Given the description of an element on the screen output the (x, y) to click on. 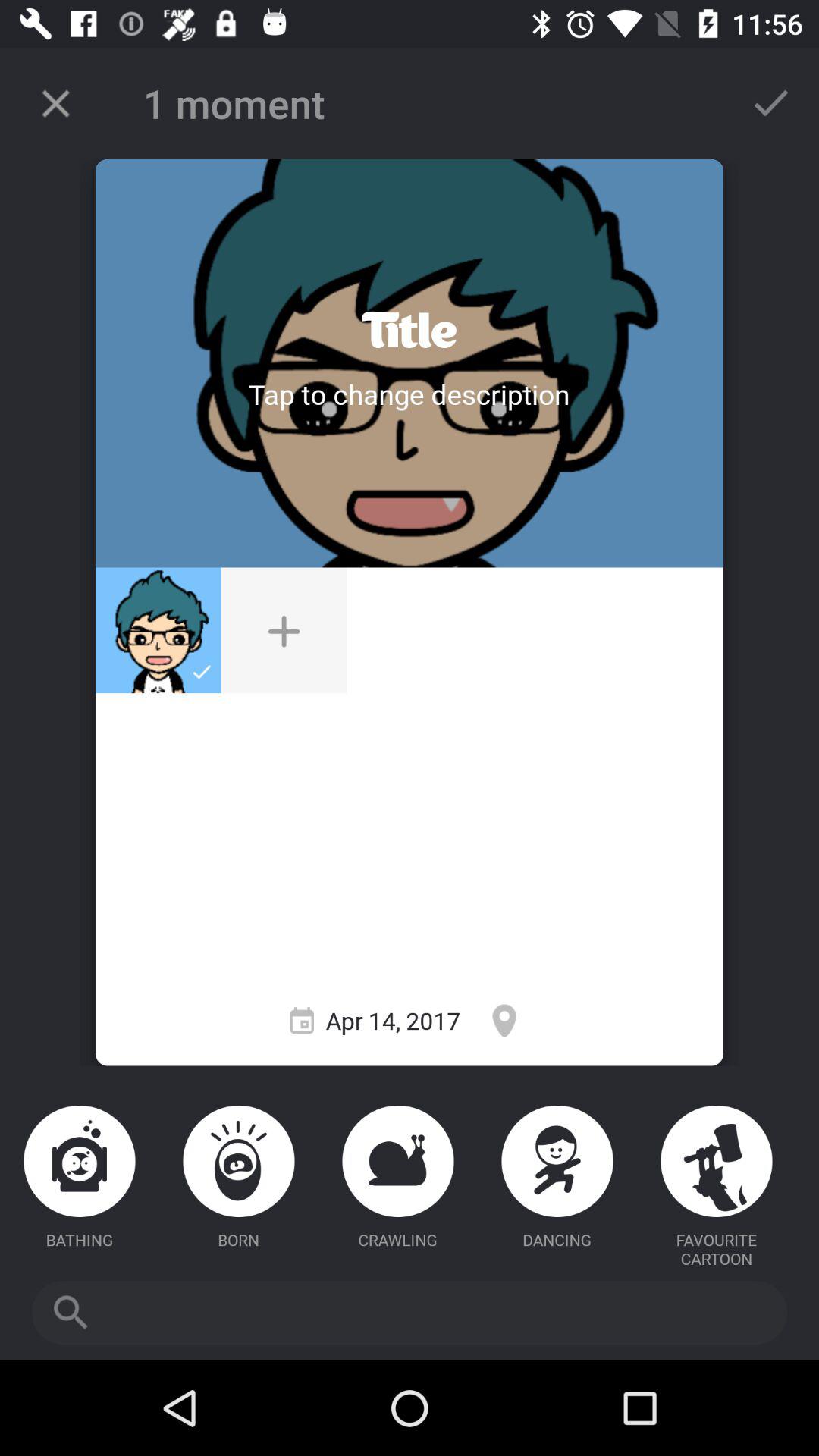
tap to title (408, 393)
